Given the description of an element on the screen output the (x, y) to click on. 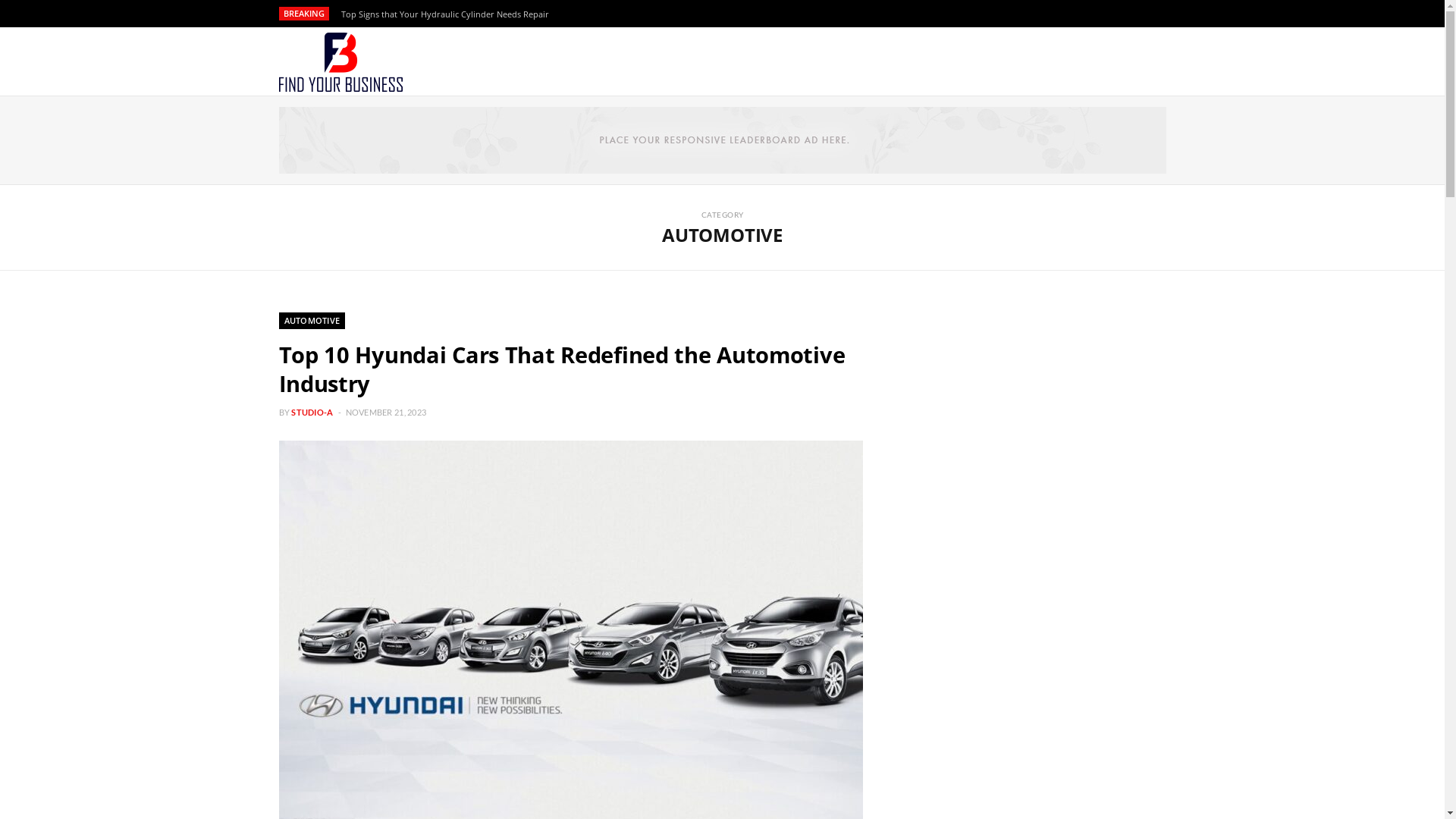
Find Your Business Element type: hover (340, 61)
AUTOMOTIVE Element type: text (312, 320)
Top Signs that Your Hydraulic Cylinder Needs Repair Element type: text (448, 14)
NOVEMBER 21, 2023 Element type: text (385, 412)
Top 10 Hyundai Cars That Redefined the Automotive Industry Element type: text (562, 368)
STUDIO-A Element type: text (311, 412)
